Given the description of an element on the screen output the (x, y) to click on. 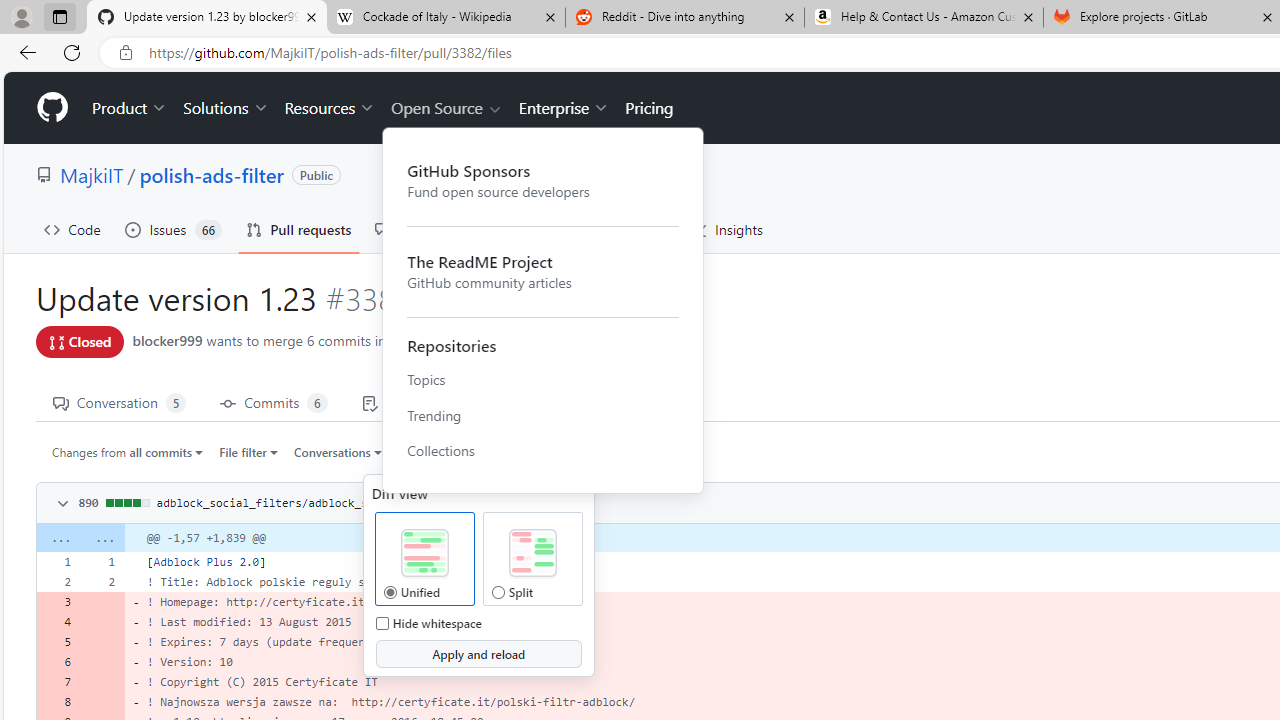
MajkiIT (92, 174)
The ReadME ProjectGitHub community articles (543, 270)
File filter (248, 451)
... (102, 538)
Split Diff View Split (498, 591)
Original file line number (63, 555)
Code (71, 229)
blocker999 : master (598, 342)
6 (58, 661)
Open Source (446, 107)
Diff settings (482, 451)
Jump to (426, 451)
3 (58, 601)
